Given the description of an element on the screen output the (x, y) to click on. 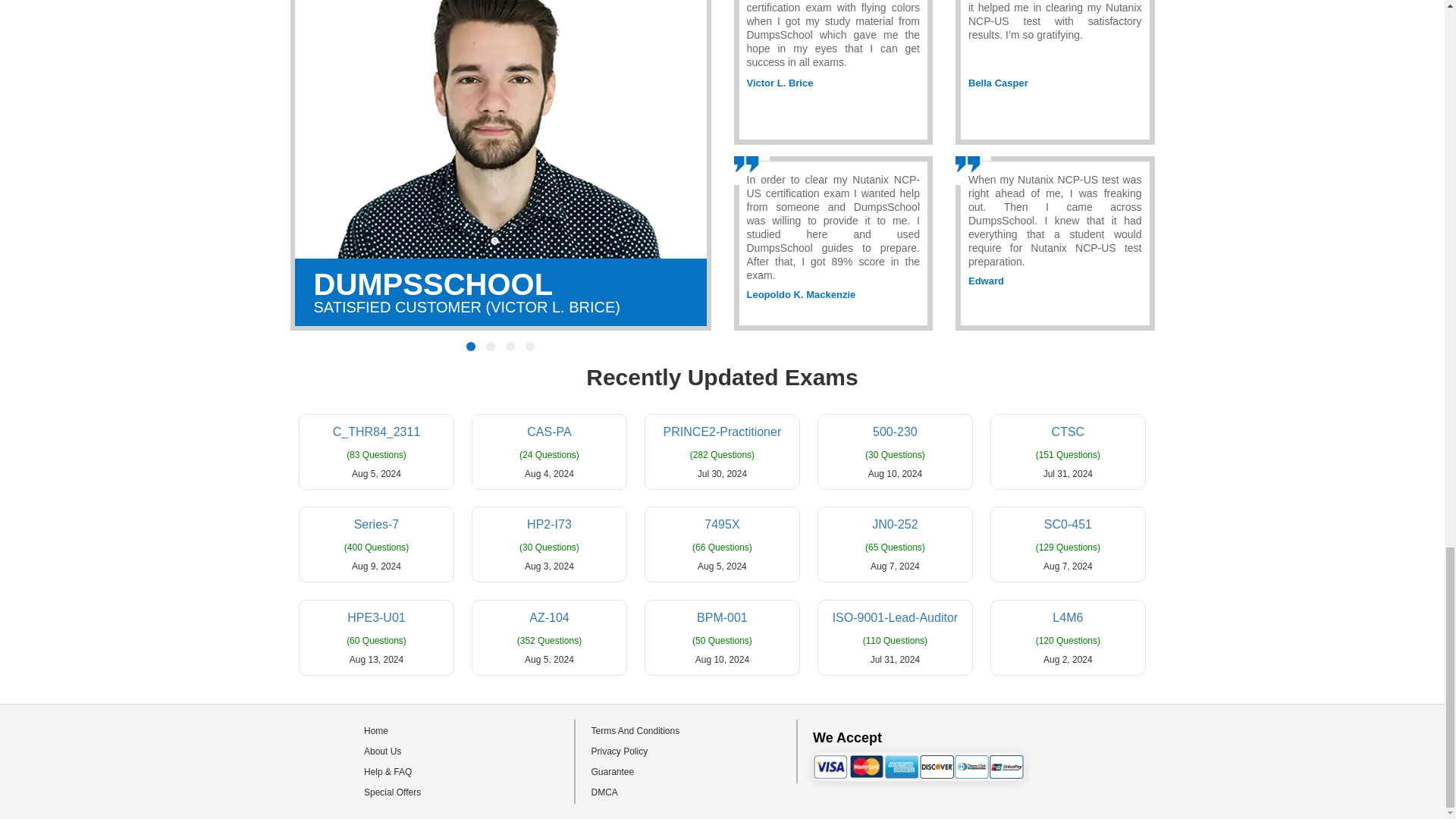
PRINCE2-Practitioner (722, 431)
500-230 (895, 431)
CAS-PA (548, 431)
